Given the description of an element on the screen output the (x, y) to click on. 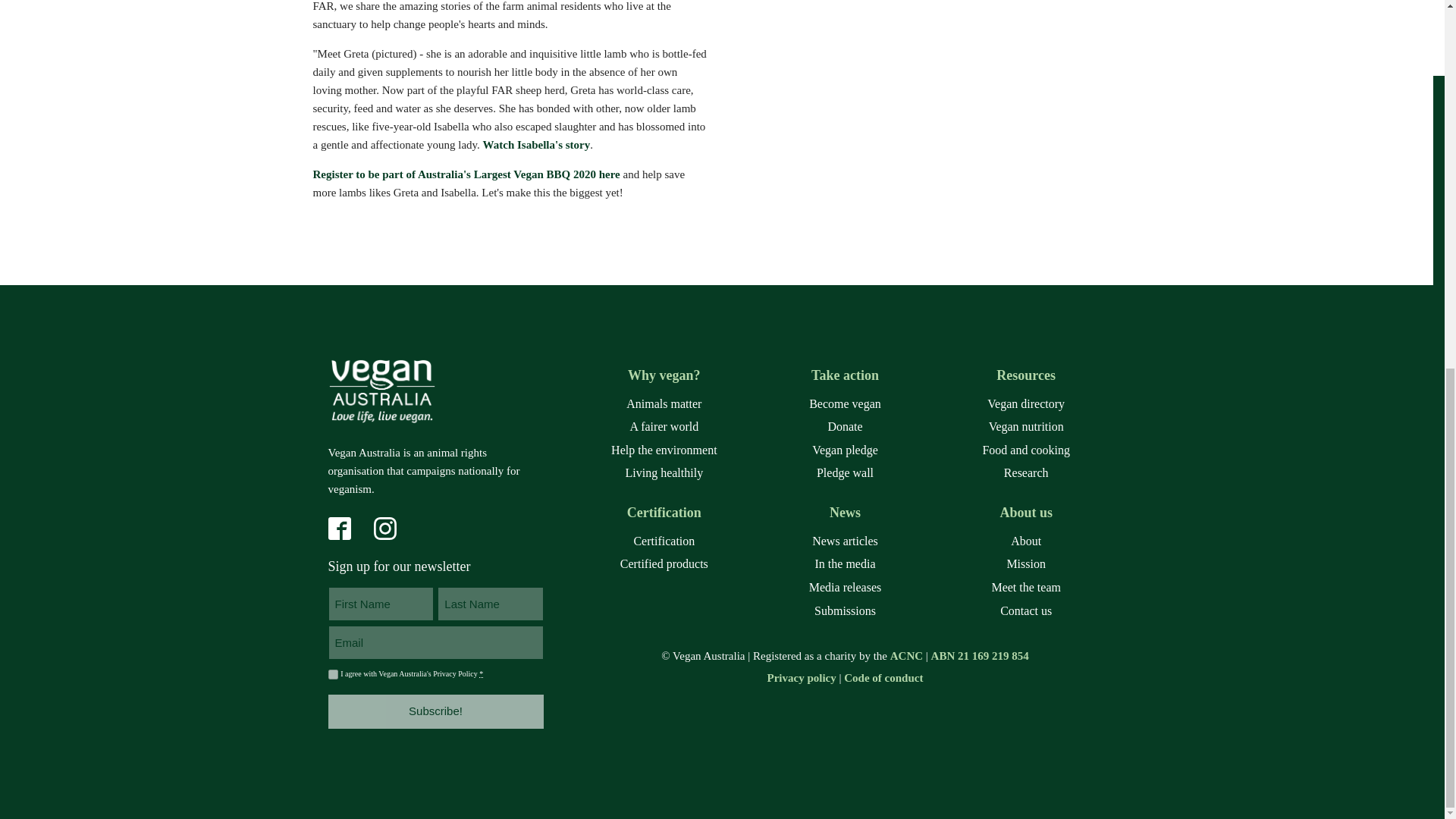
Subscribe! (435, 711)
